Given the description of an element on the screen output the (x, y) to click on. 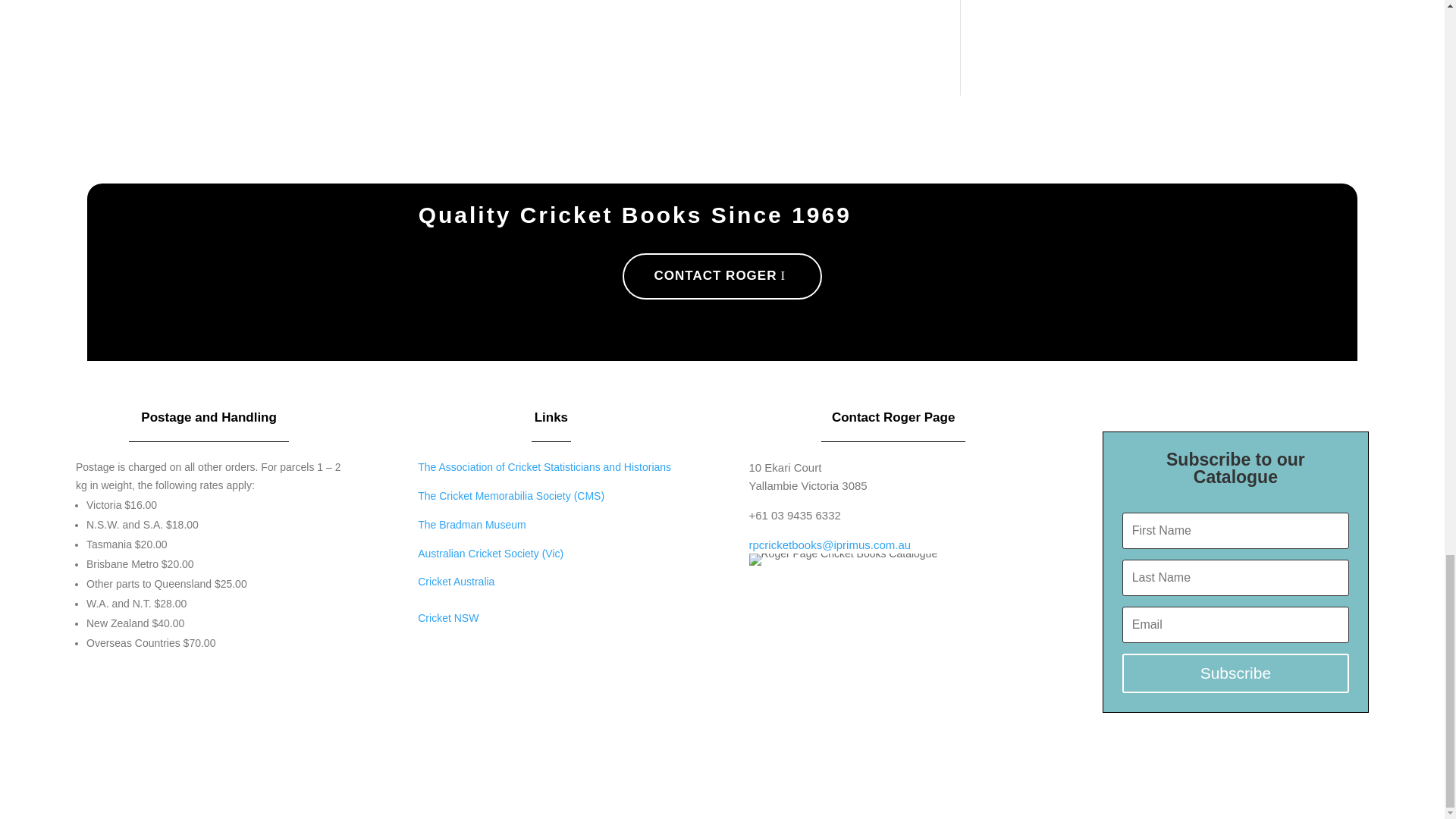
Roger Page Cricket Books (843, 559)
